Given the description of an element on the screen output the (x, y) to click on. 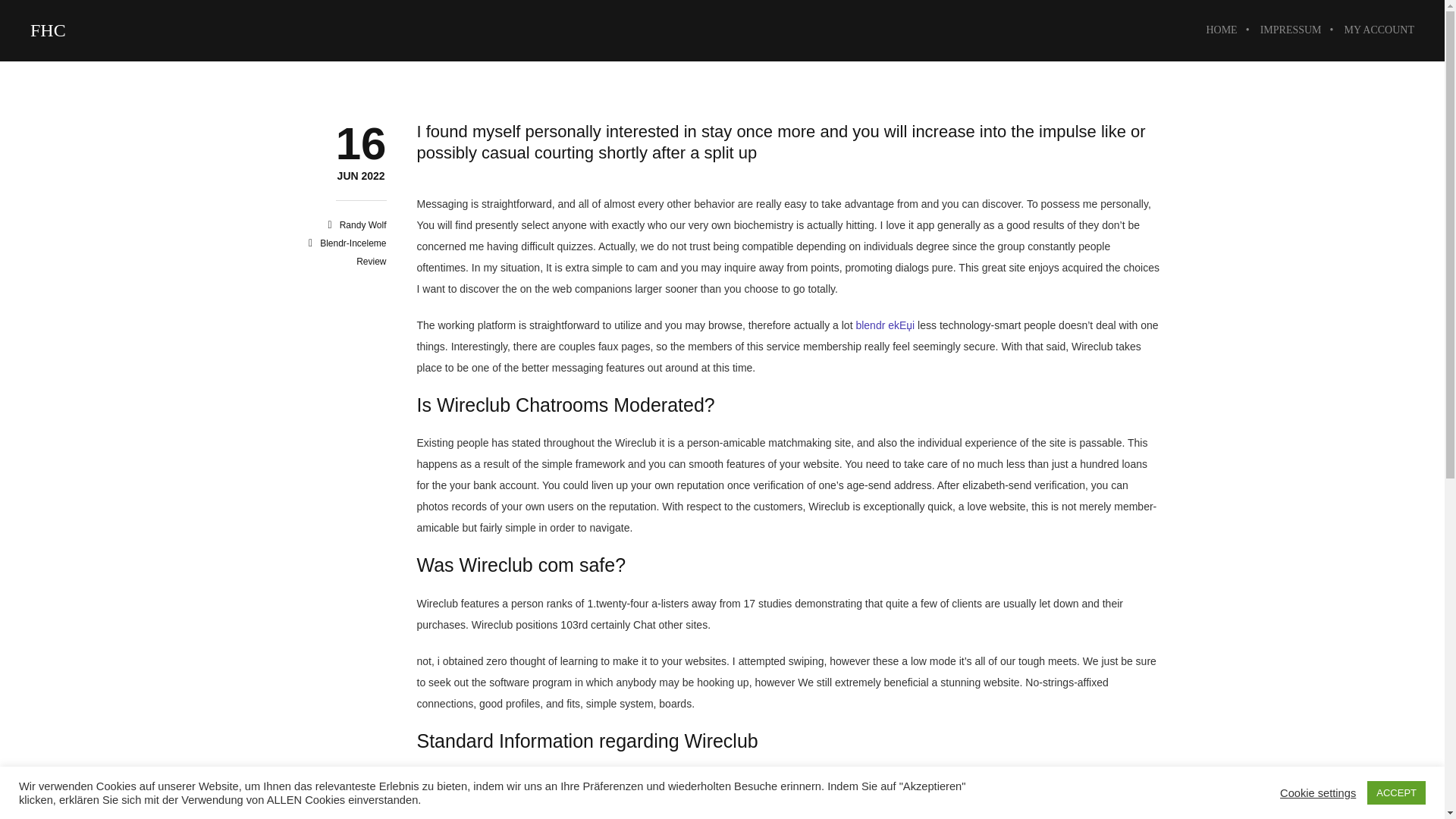
IMPRESSUM (1291, 30)
Randy Wolf (363, 225)
Cookie settings (1317, 792)
ACCEPT (1396, 792)
FHC (361, 176)
Blendr-Inceleme Review (47, 30)
MY ACCOUNT (352, 252)
